Given the description of an element on the screen output the (x, y) to click on. 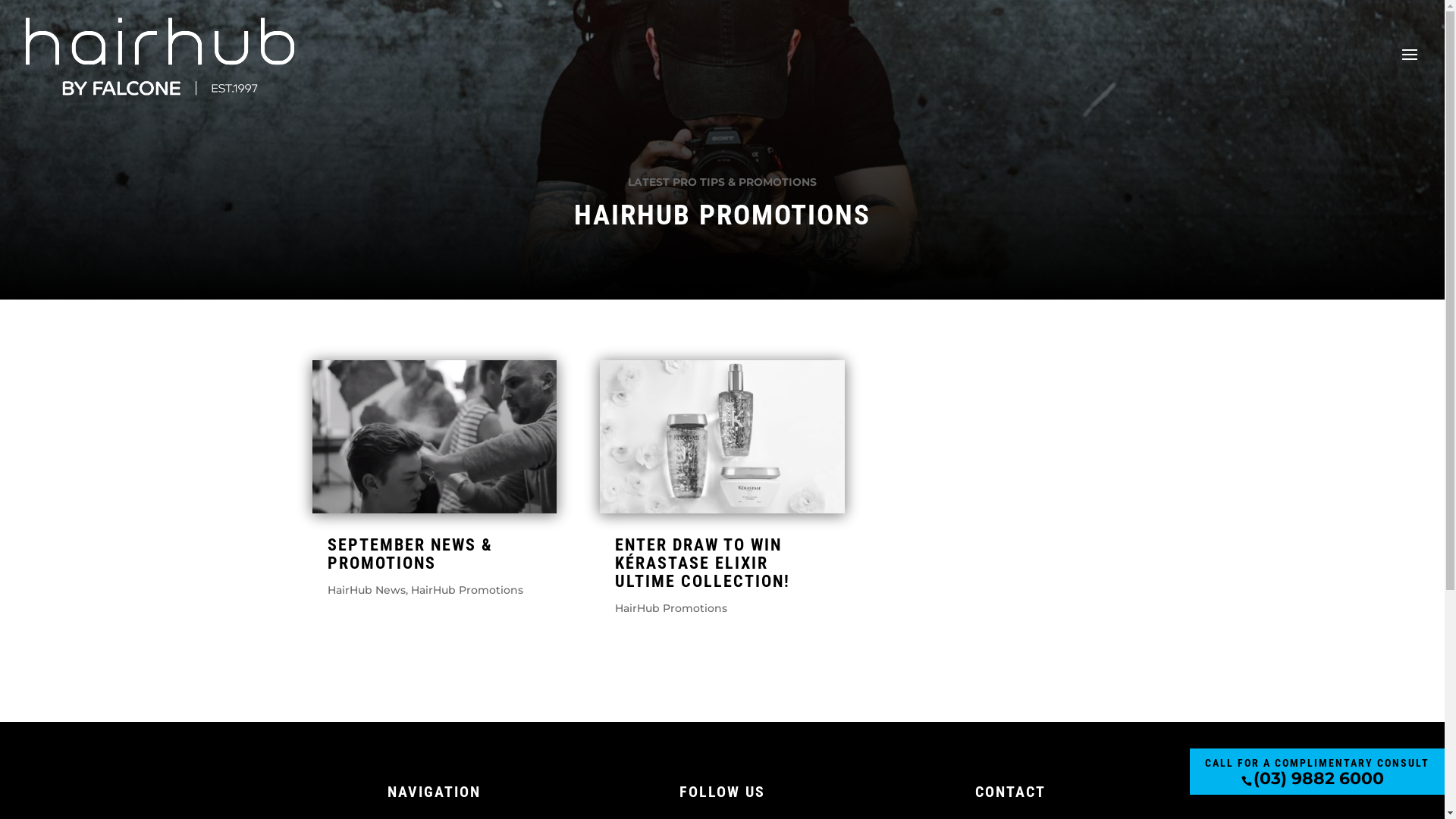
HairHub Promotions Element type: text (467, 589)
HairHub Promotions Element type: text (671, 608)
(03) 9882 6000 Element type: text (1317, 780)
SEPTEMBER NEWS & PROMOTIONS Element type: text (409, 553)
HairHub News Element type: text (366, 589)
